Given the description of an element on the screen output the (x, y) to click on. 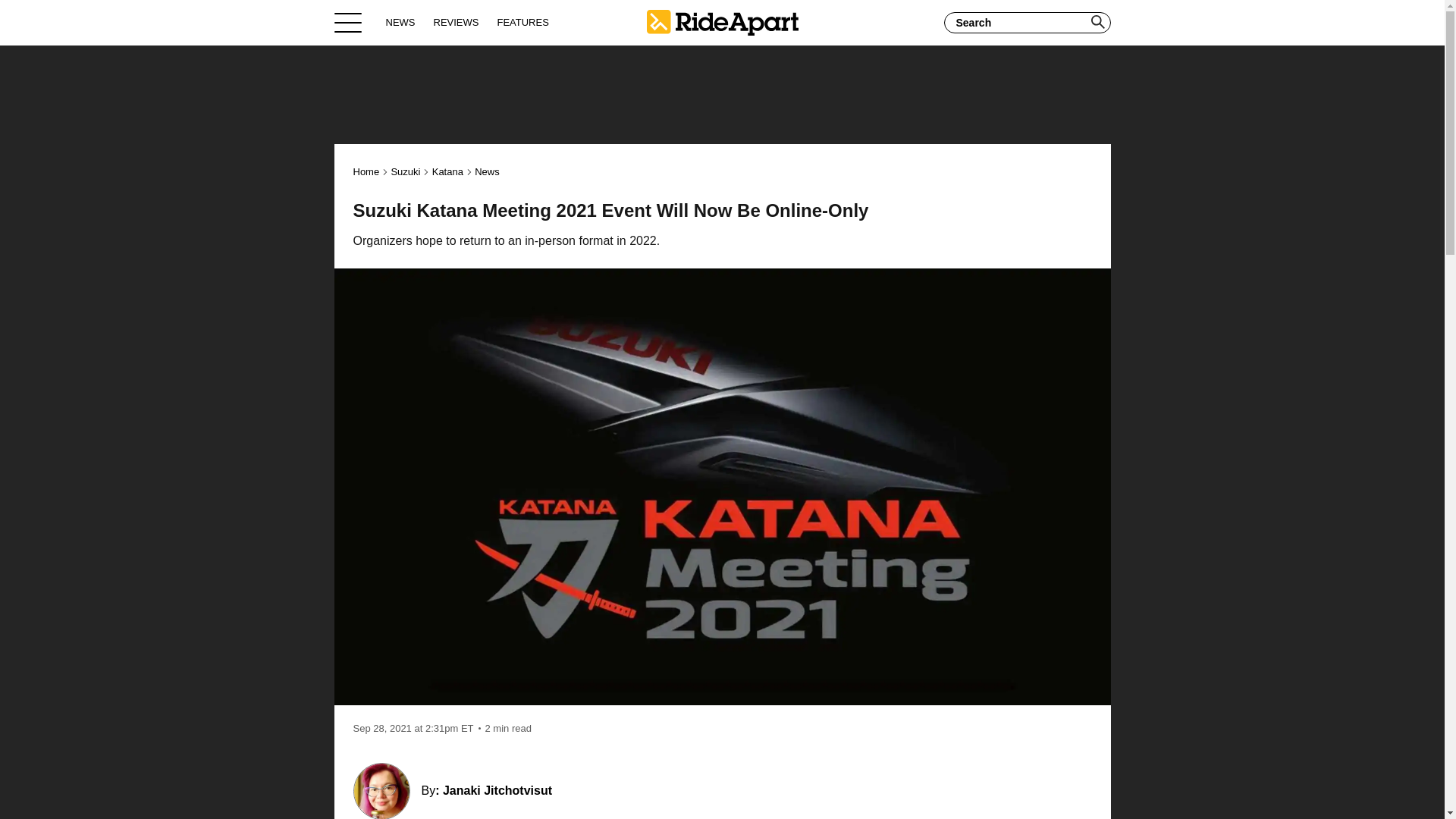
Katana (447, 171)
REVIEWS (456, 22)
Home (721, 22)
Home (366, 171)
FEATURES (522, 22)
Janaki Jitchotvisut (496, 789)
NEWS (399, 22)
Suzuki (405, 171)
News (486, 171)
